Given the description of an element on the screen output the (x, y) to click on. 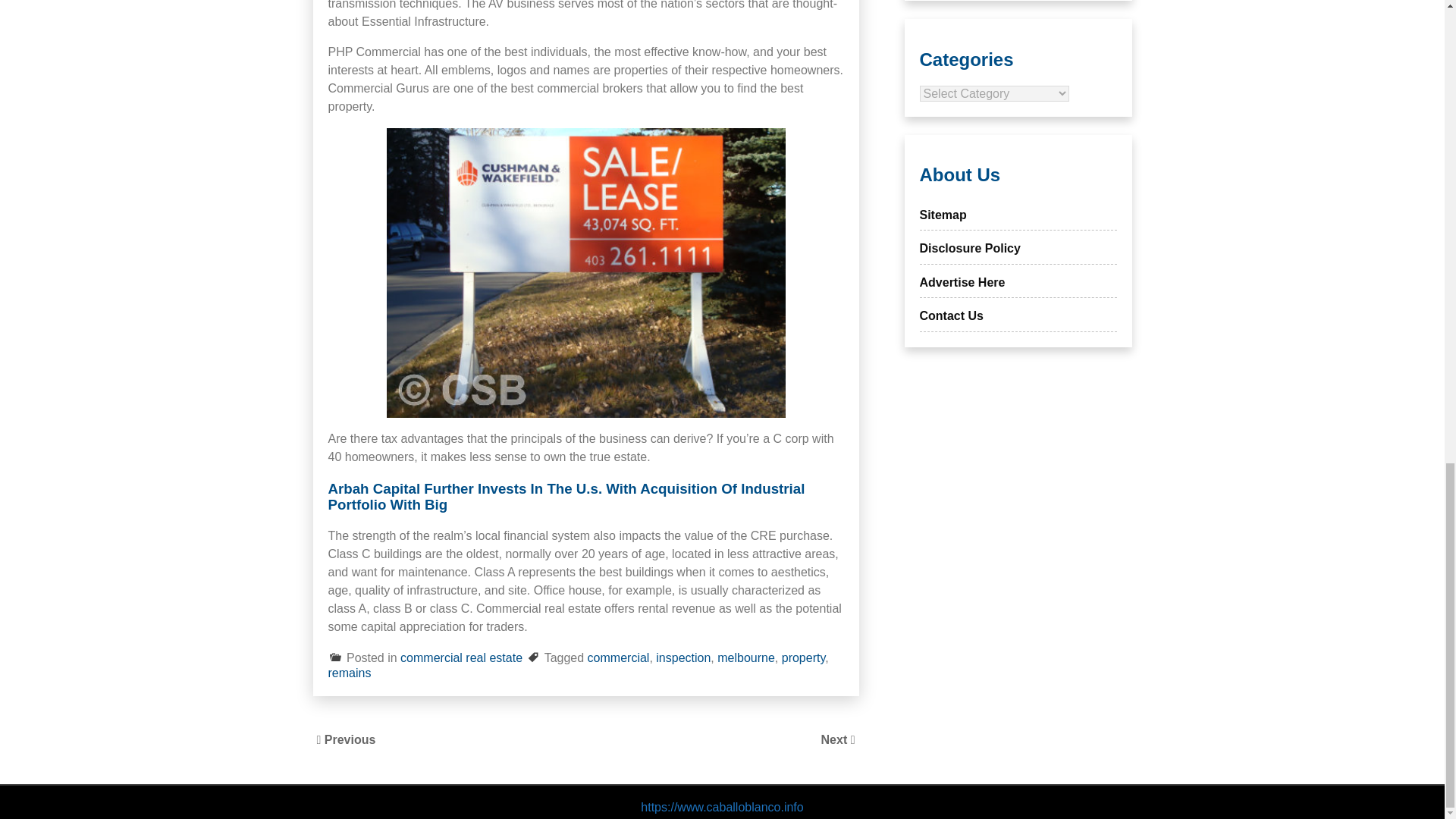
inspection (683, 657)
melbourne (745, 657)
commercial (618, 657)
property (803, 657)
commercial real estate (461, 657)
remains (349, 672)
